Given the description of an element on the screen output the (x, y) to click on. 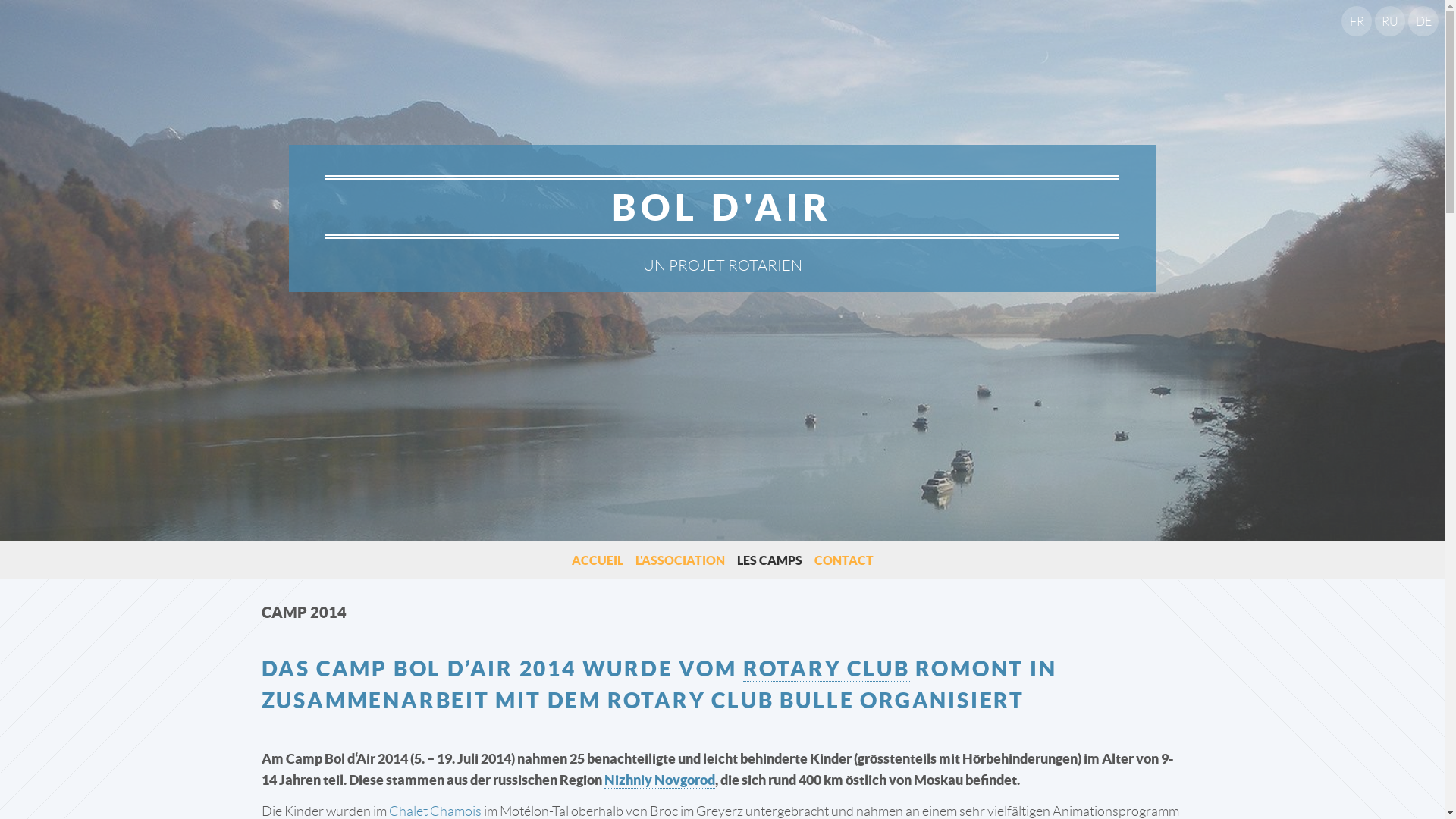
BOL D'AIR Element type: text (722, 206)
L'ASSOCIATION Element type: text (679, 560)
FR Element type: text (1356, 21)
RU Element type: text (1389, 21)
LES CAMPS Element type: text (769, 560)
Nizhniy Novgorod Element type: text (658, 779)
CONTACT Element type: text (843, 560)
CAMP 2014 Element type: text (302, 612)
DE Element type: text (1423, 21)
ACCUEIL Element type: text (597, 560)
ROTARY CLUB Element type: text (826, 668)
